Given the description of an element on the screen output the (x, y) to click on. 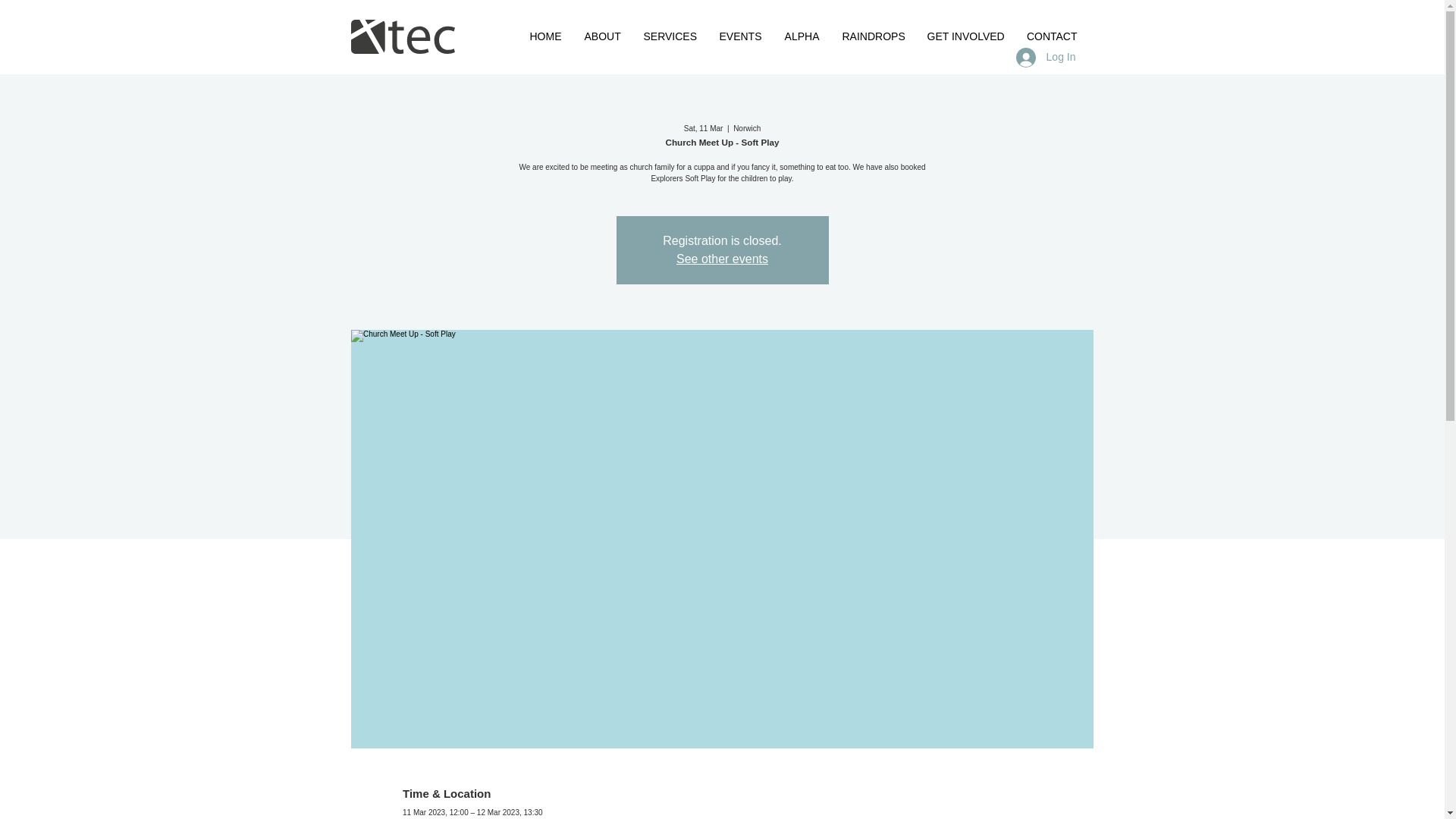
GET INVOLVED (964, 36)
ABOUT (602, 36)
RAINDROPS (873, 36)
ALPHA (802, 36)
SERVICES (669, 36)
Log In (1046, 57)
CONTACT (1050, 36)
HOME (545, 36)
EVENTS (740, 36)
See other events (722, 258)
